Given the description of an element on the screen output the (x, y) to click on. 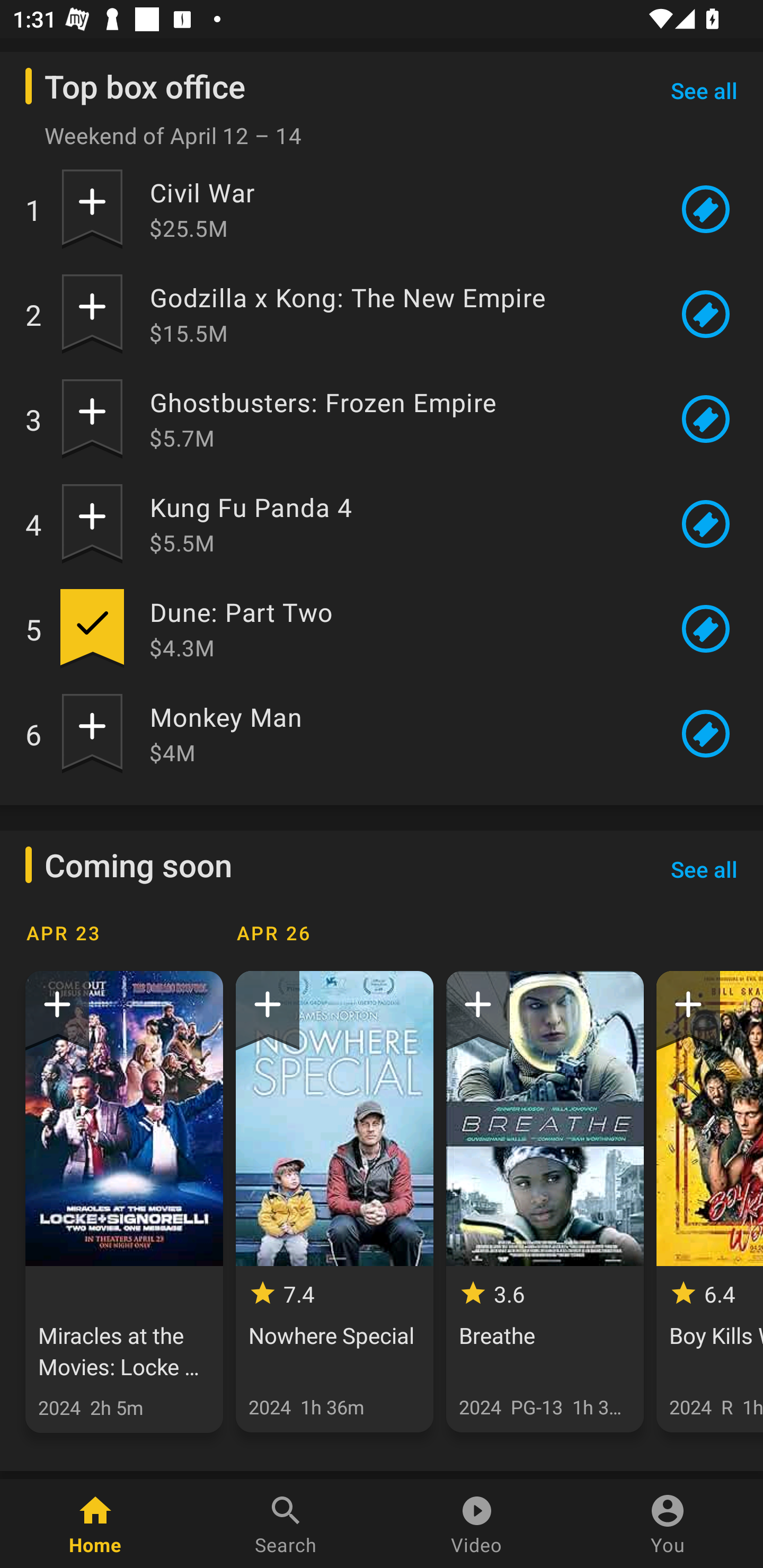
See all See all Top box office (703, 89)
Civil War $25.5M (398, 209)
Godzilla x Kong: The New Empire $15.5M (398, 314)
Ghostbusters: Frozen Empire $5.7M (398, 419)
Kung Fu Panda 4 $5.5M (398, 523)
Dune: Part Two $4.3M (398, 628)
Monkey Man $4M (398, 733)
See all See all Coming soon (703, 869)
7.4 Nowhere Special 2024  1h 36m (334, 1201)
3.6 Breathe 2024  PG-13  1h 33m (544, 1201)
Search (285, 1523)
Video (476, 1523)
You (667, 1523)
